Given the description of an element on the screen output the (x, y) to click on. 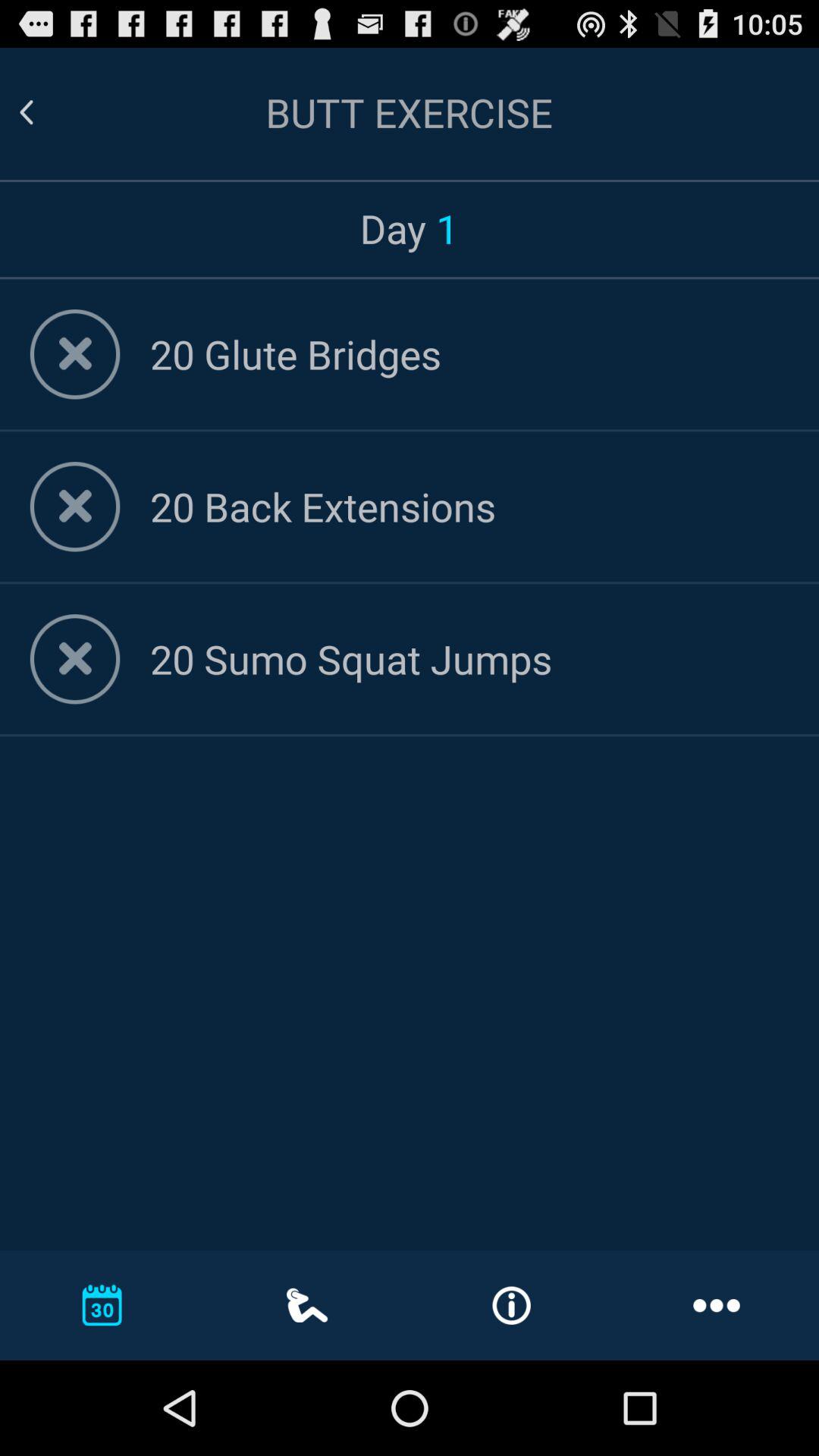
jump until the 20 sumo squat icon (469, 658)
